Given the description of an element on the screen output the (x, y) to click on. 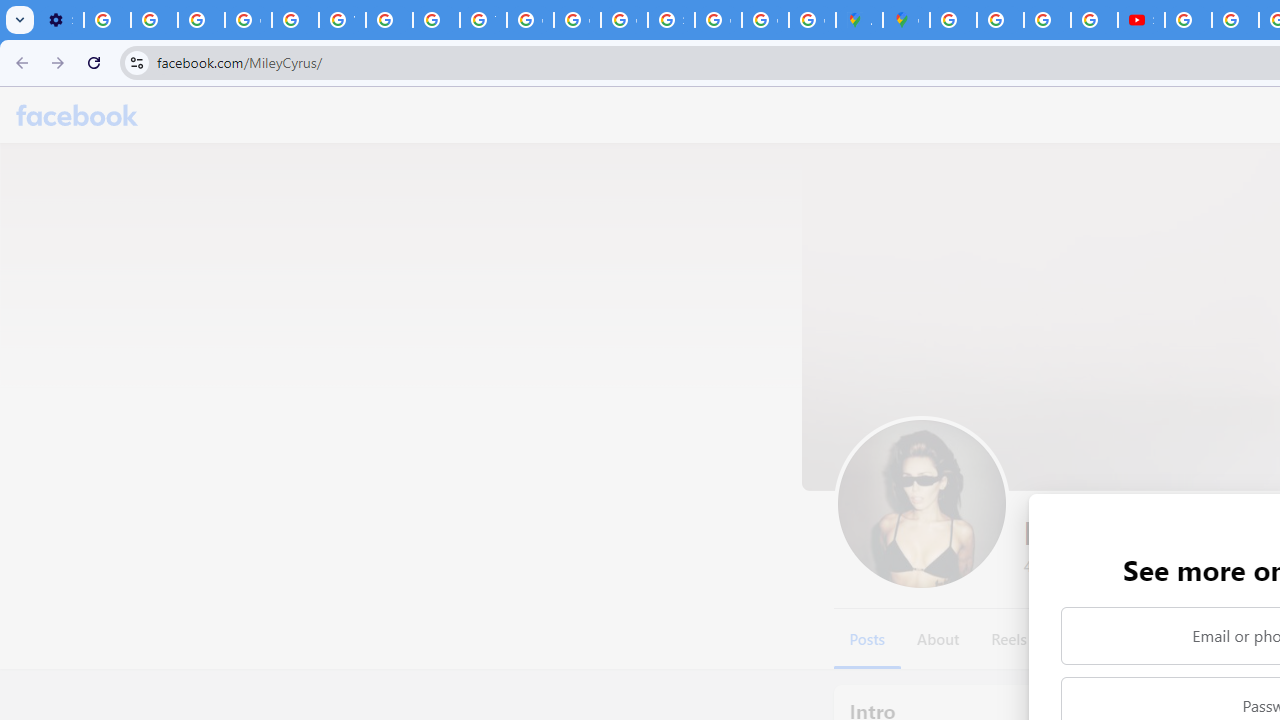
YouTube (342, 20)
Privacy Help Center - Policies Help (999, 20)
